Given the description of an element on the screen output the (x, y) to click on. 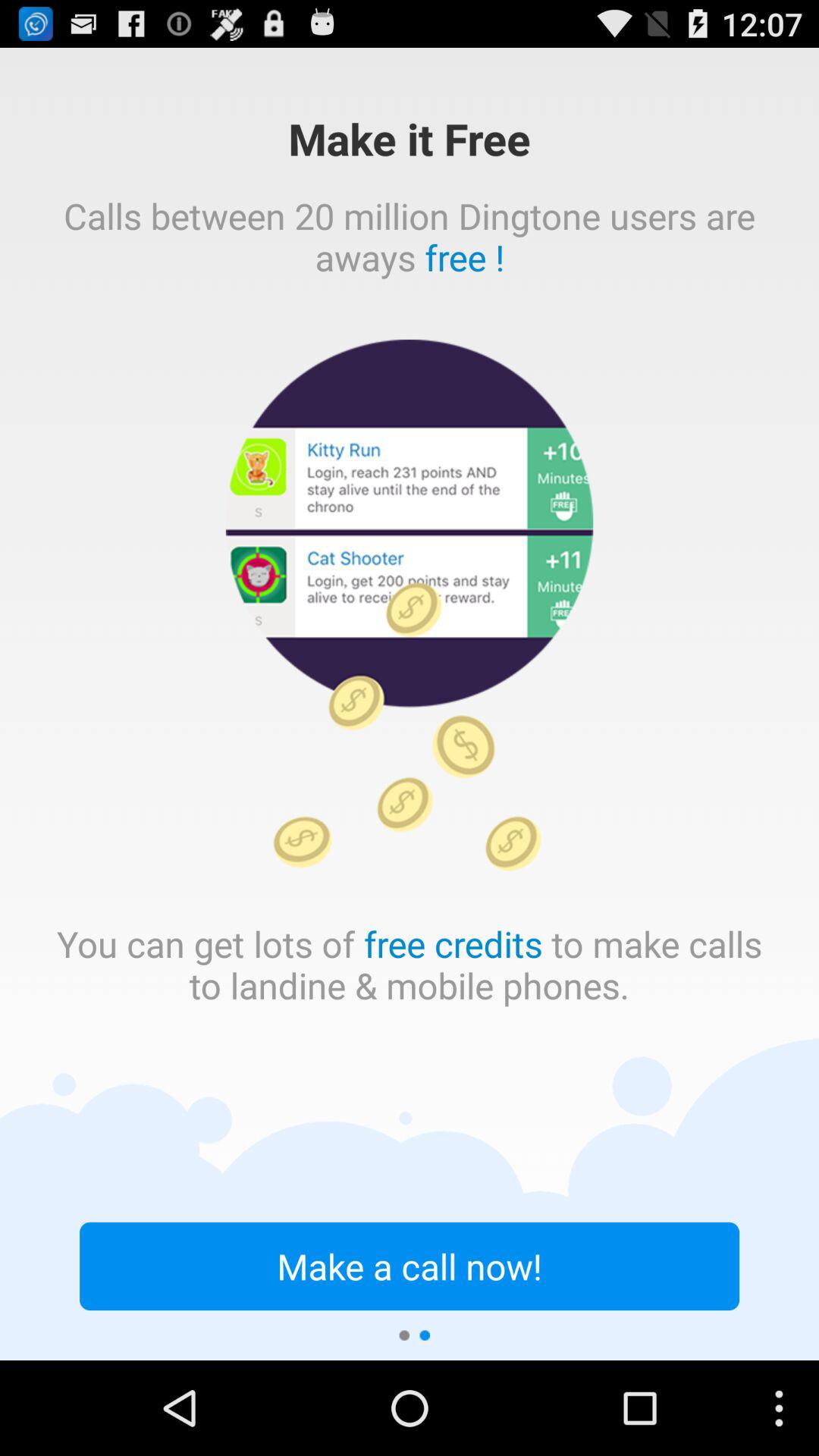
launch item below the you can get (409, 1266)
